Given the description of an element on the screen output the (x, y) to click on. 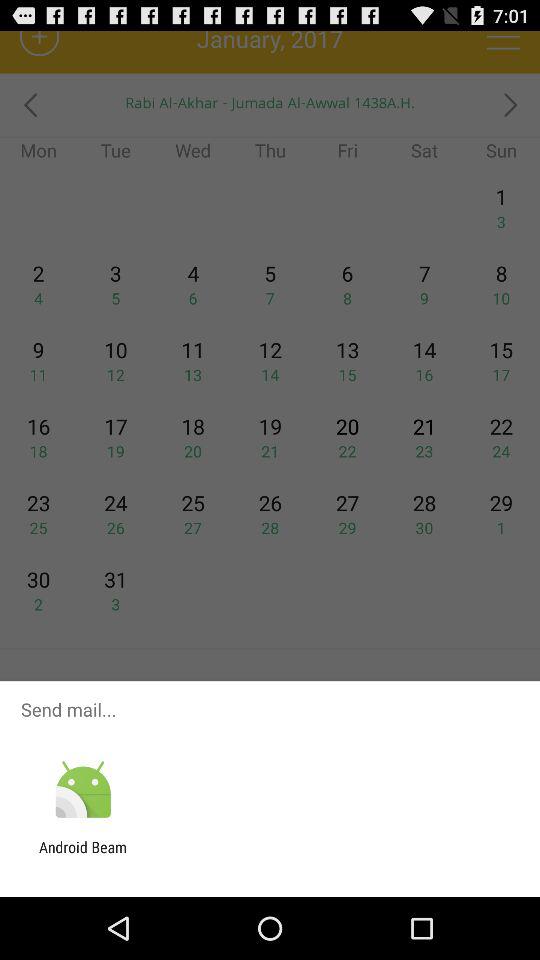
open the app below send mail... icon (82, 789)
